Given the description of an element on the screen output the (x, y) to click on. 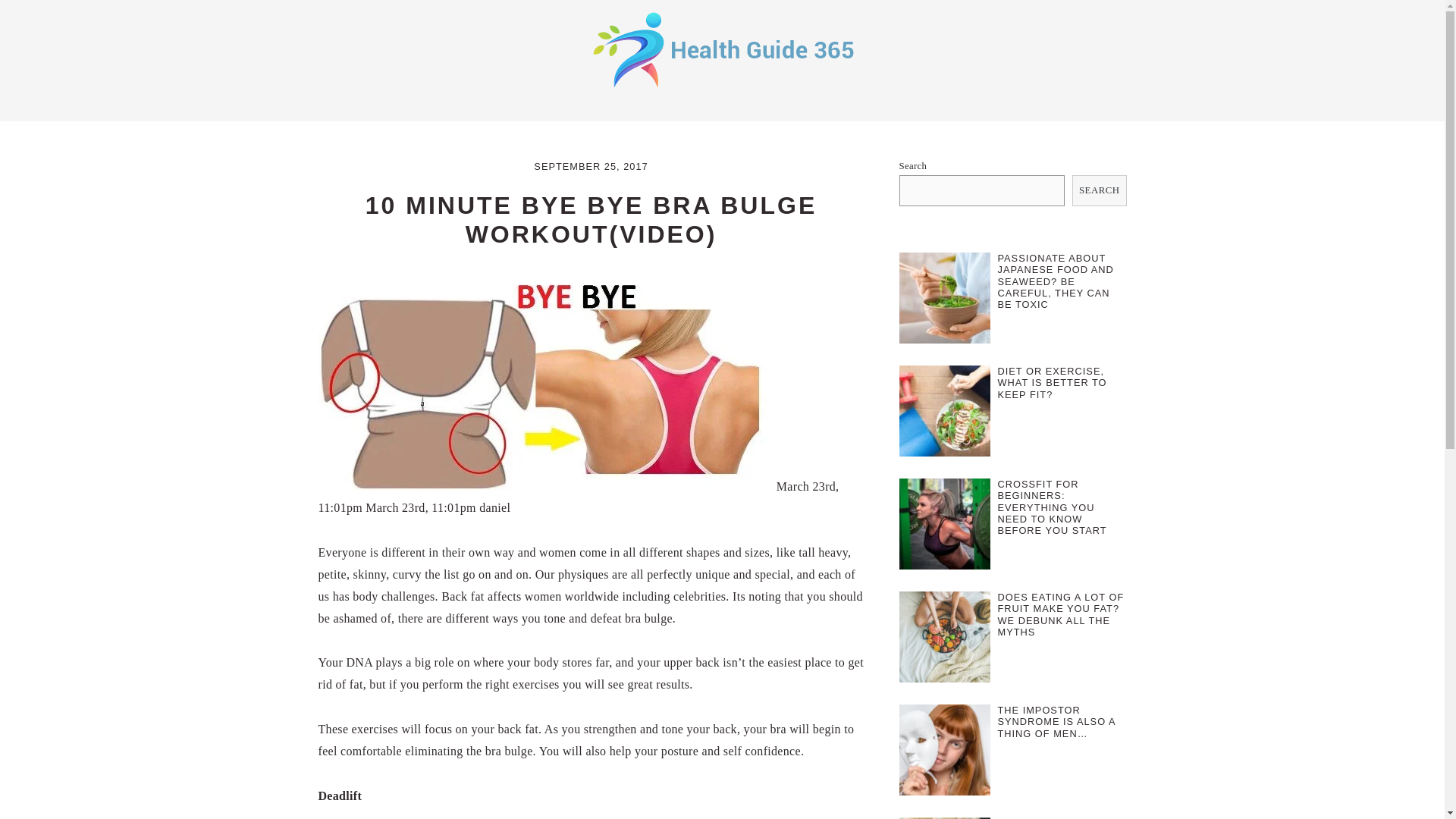
Diet or exercise, what is better to keep fit? (944, 413)
7 HEALTHY AND NUTRITIOUS DISHES FOR THE WHOLE WEEK (1060, 818)
Health Guide 365 (722, 48)
Health Guide 365 (722, 89)
7 healthy and nutritious dishes for the whole week (944, 818)
DIET OR EXERCISE, WHAT IS BETTER TO KEEP FIT? (1051, 382)
SEARCH (1098, 190)
